Given the description of an element on the screen output the (x, y) to click on. 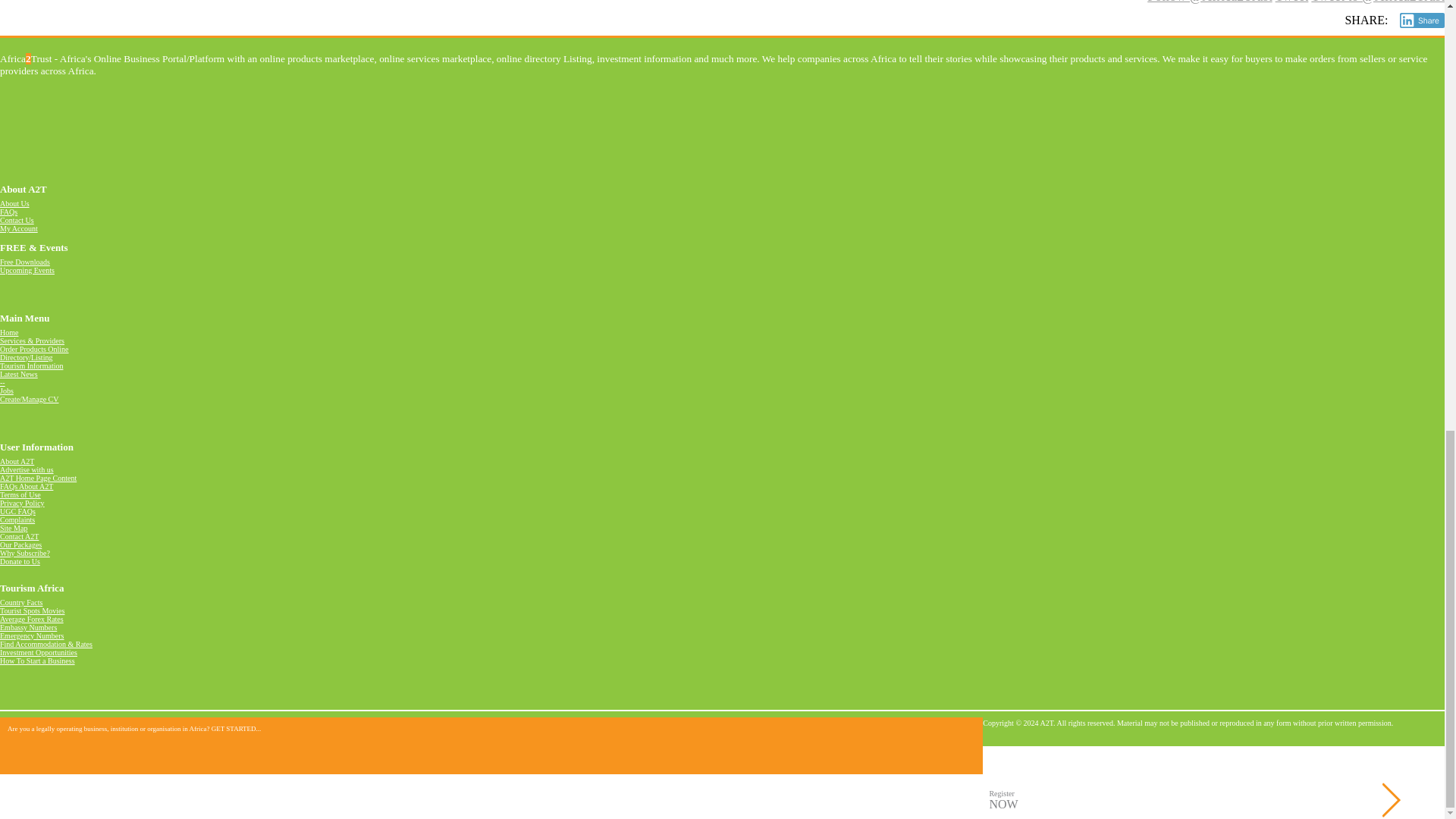
Tweet (1291, 2)
